Given the description of an element on the screen output the (x, y) to click on. 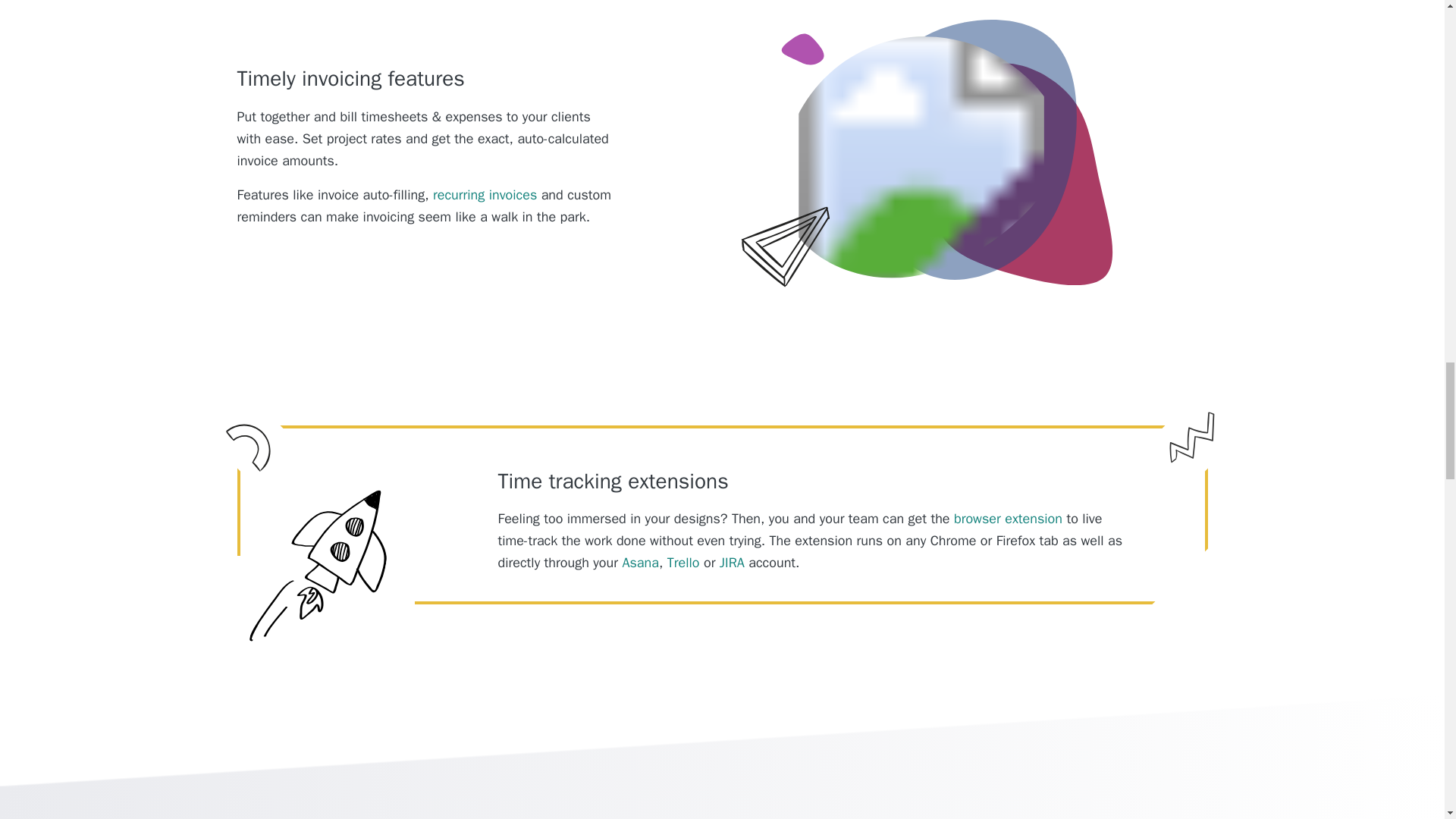
Trello (683, 562)
Asana (640, 562)
recurring invoices (484, 194)
browser extension (1007, 518)
JIRA (731, 562)
